Given the description of an element on the screen output the (x, y) to click on. 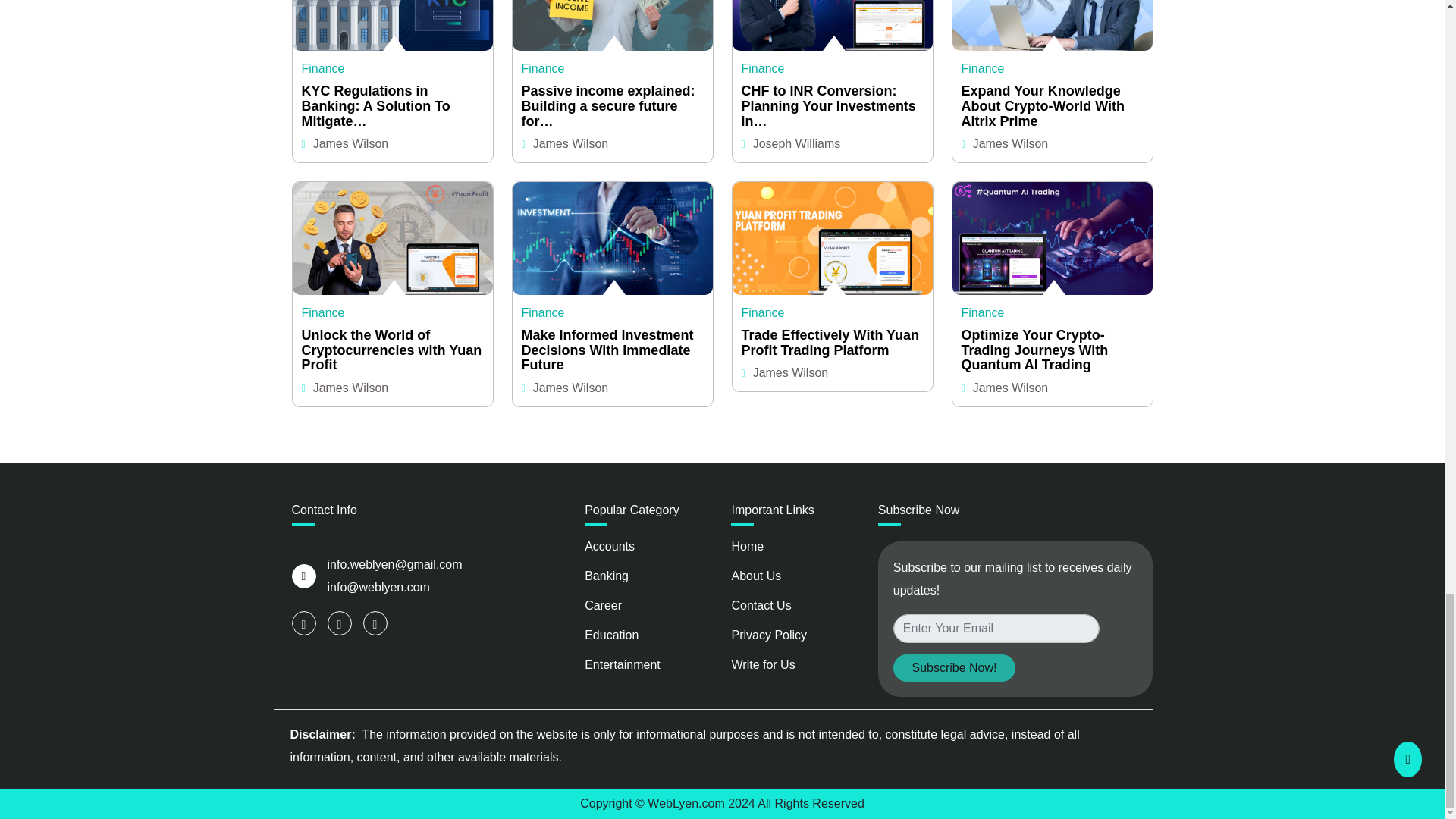
Subscribe Now! (953, 667)
